Given the description of an element on the screen output the (x, y) to click on. 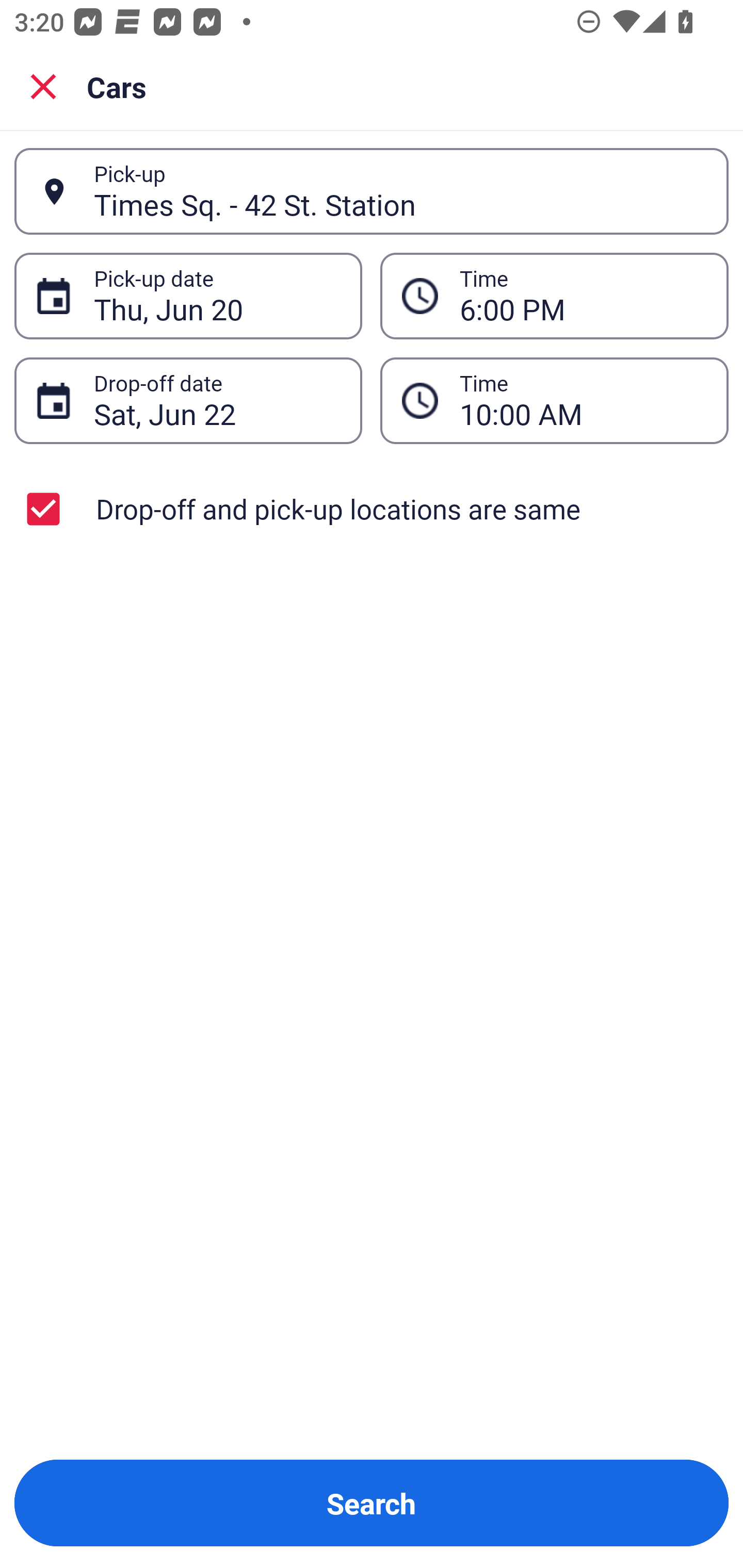
Close search screen (43, 86)
Times Sq. - 42 St. Station Pick-up (371, 191)
Times Sq. - 42 St. Station (399, 191)
Thu, Jun 20 Pick-up date (188, 295)
6:00 PM (554, 295)
Thu, Jun 20 (216, 296)
6:00 PM (582, 296)
Sat, Jun 22 Drop-off date (188, 400)
10:00 AM (554, 400)
Sat, Jun 22 (216, 400)
10:00 AM (582, 400)
Drop-off and pick-up locations are same (371, 508)
Search Button Search (371, 1502)
